Given the description of an element on the screen output the (x, y) to click on. 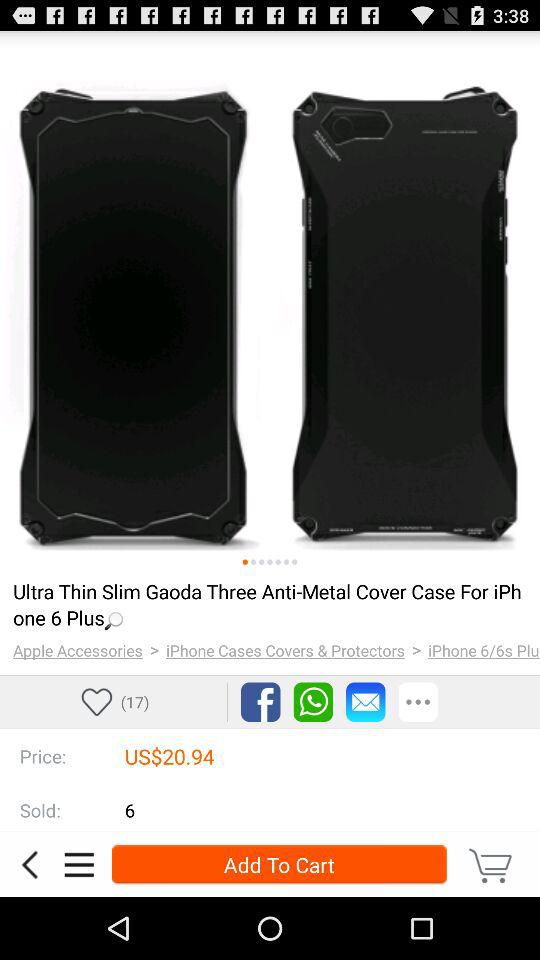
go to facebook (260, 701)
